Given the description of an element on the screen output the (x, y) to click on. 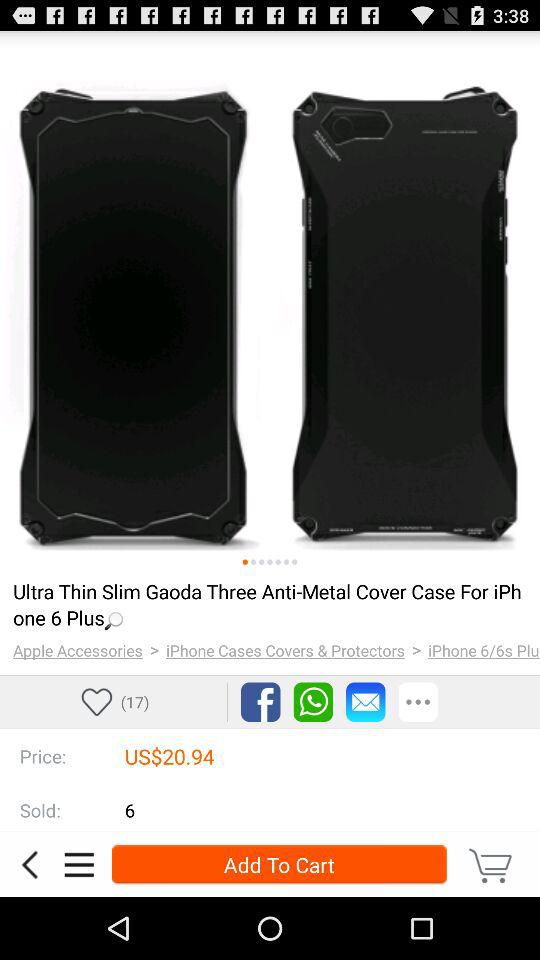
go to facebook (260, 701)
